Given the description of an element on the screen output the (x, y) to click on. 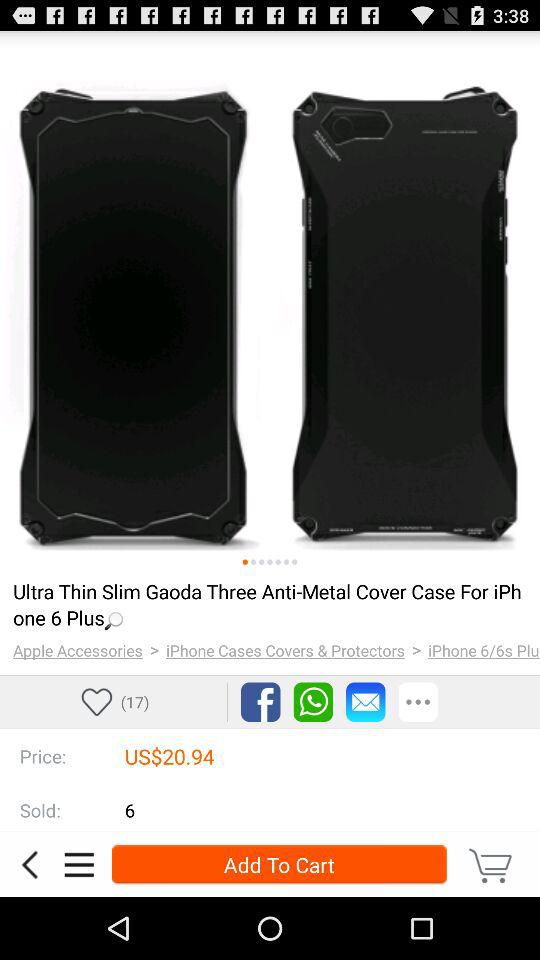
go to facebook (260, 701)
